Given the description of an element on the screen output the (x, y) to click on. 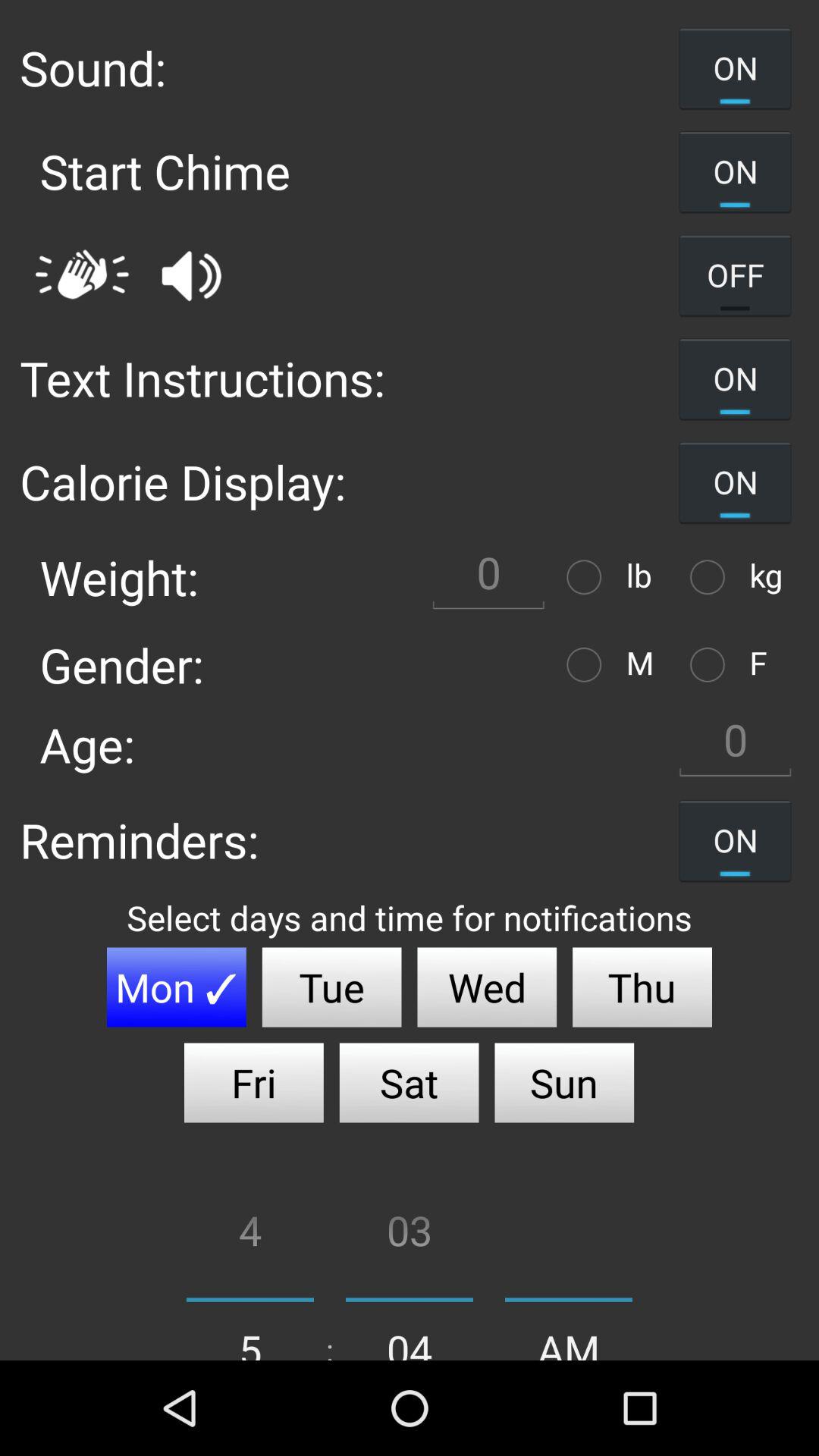
check options male (587, 664)
